Given the description of an element on the screen output the (x, y) to click on. 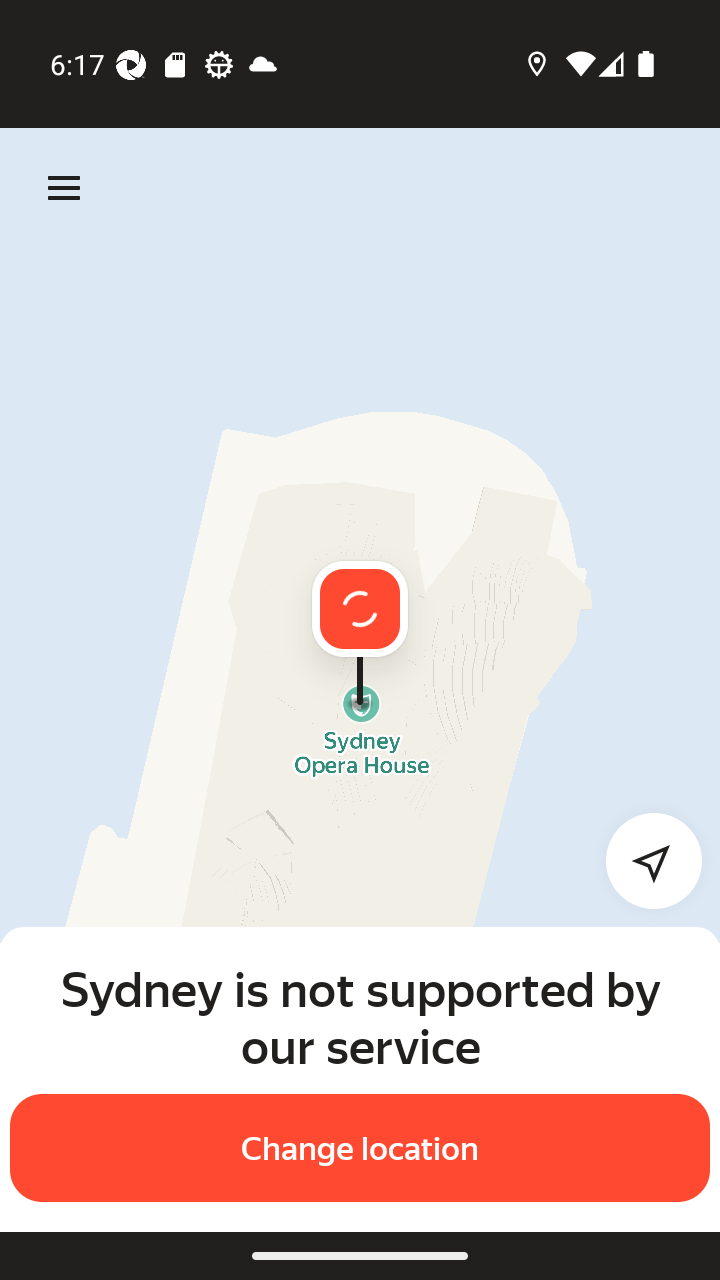
Menu Menu Menu (64, 188)
Detect my location (641, 860)
Sydney is not supported by our service (360, 1017)
Change location (359, 1147)
